Given the description of an element on the screen output the (x, y) to click on. 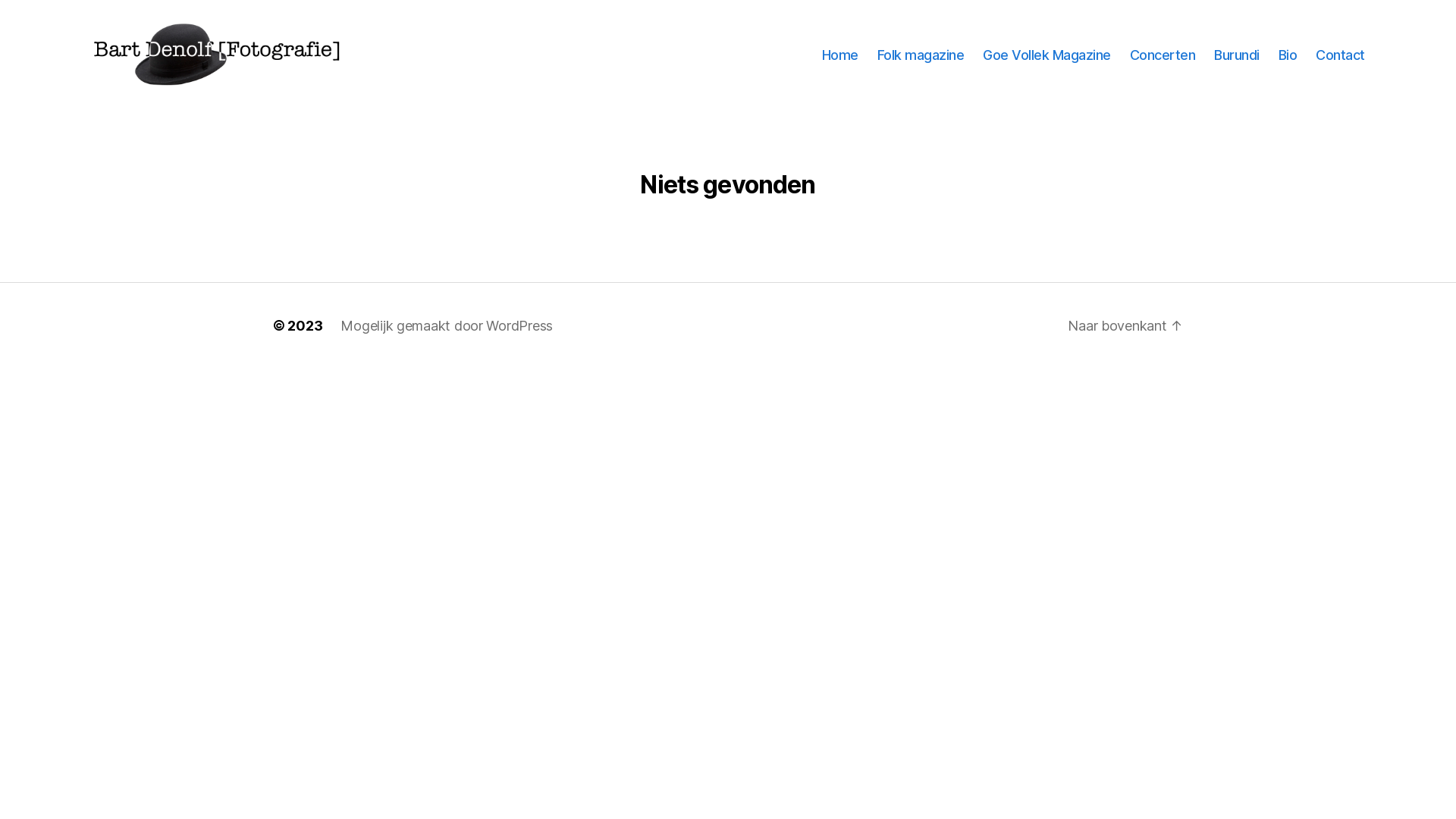
Concerten Element type: text (1162, 55)
Mogelijk gemaakt door WordPress Element type: text (446, 325)
Home Element type: text (840, 55)
Contact Element type: text (1340, 55)
Bio Element type: text (1287, 55)
Goe Vollek Magazine Element type: text (1046, 55)
Folk magazine Element type: text (920, 55)
Burundi Element type: text (1236, 55)
